Given the description of an element on the screen output the (x, y) to click on. 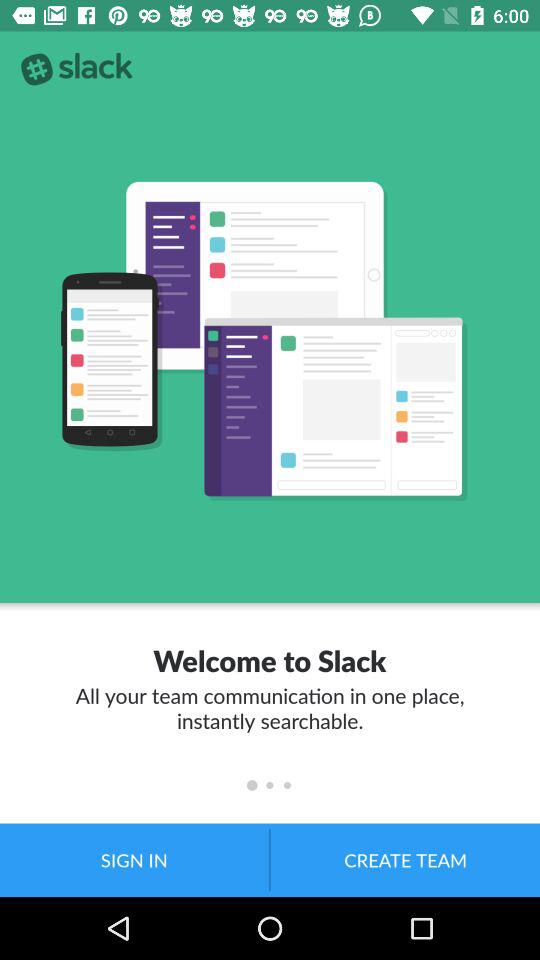
turn on the create team (405, 859)
